Given the description of an element on the screen output the (x, y) to click on. 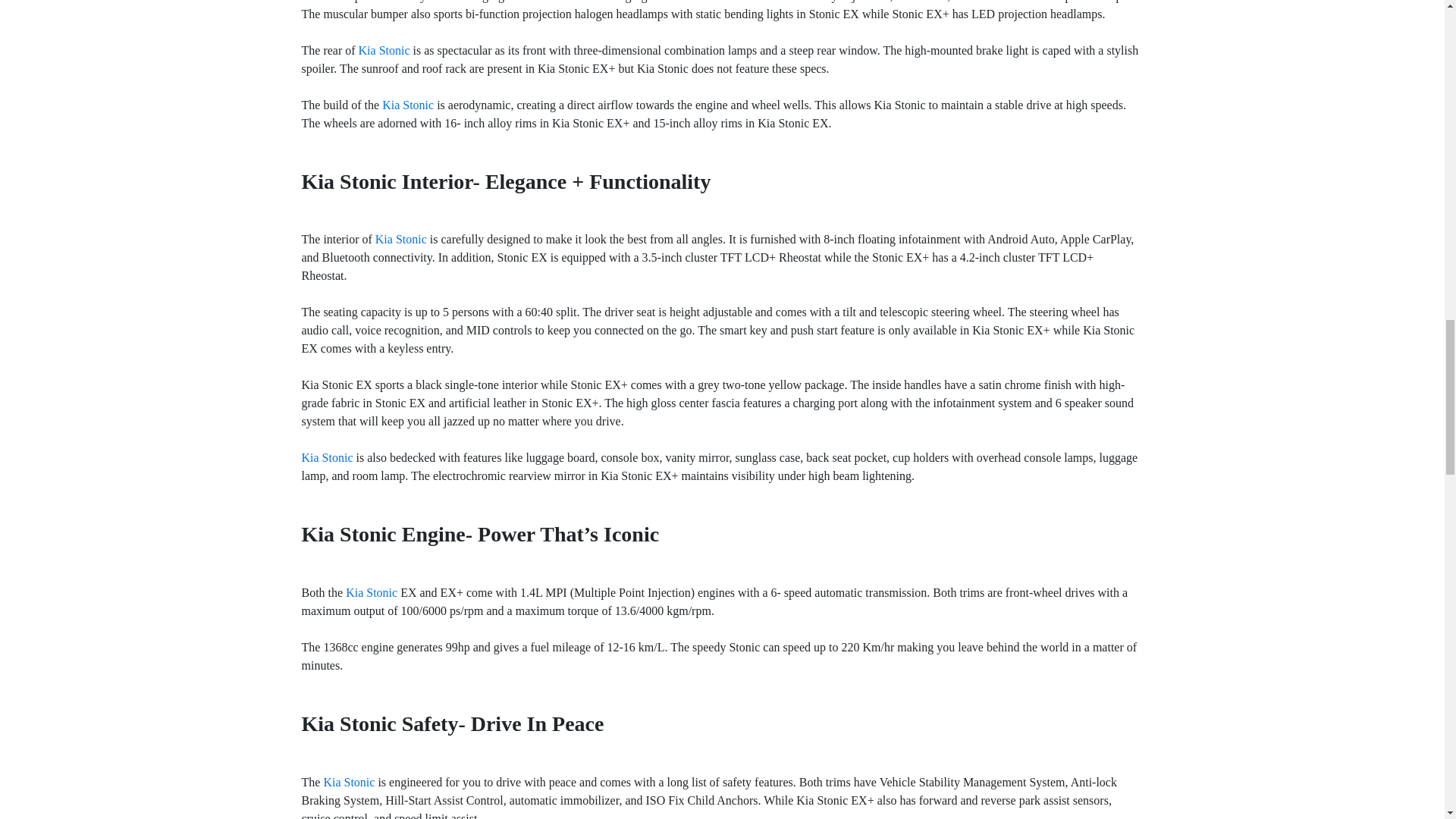
Kia Stonic (371, 592)
Kia Stonic (348, 781)
Kia Stonic (400, 238)
Kia Stonic (384, 50)
Kia Stonic (407, 104)
Kia Stonic (327, 457)
